Given the description of an element on the screen output the (x, y) to click on. 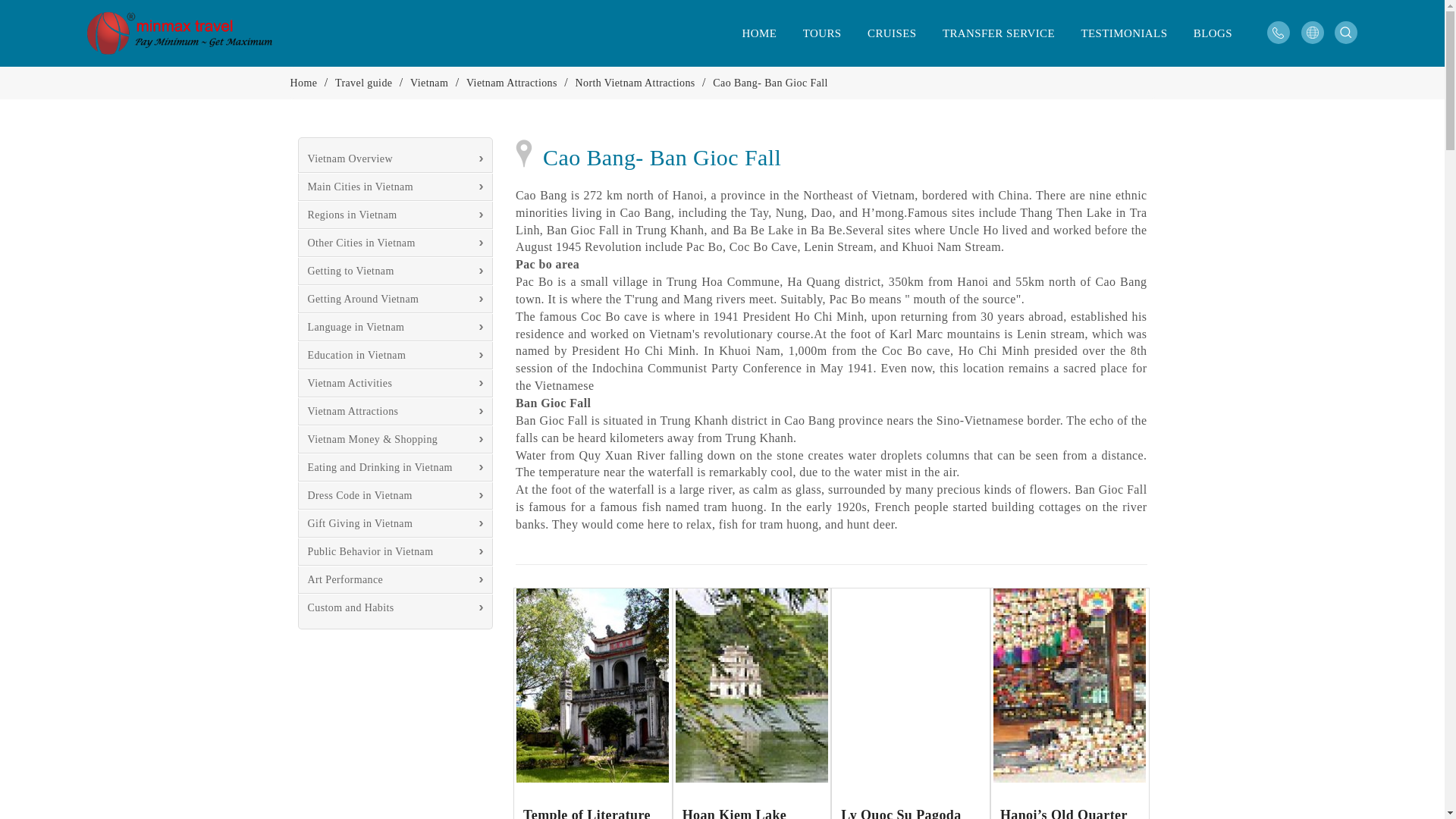
HOME (759, 33)
Vietnam Attractions (511, 82)
TOURS (822, 33)
Vietnam (429, 82)
Home (759, 33)
TESTIMONIALS (1122, 33)
BLOGS (1212, 33)
Minmax Travel (193, 33)
Travel guide (362, 82)
TRANSFER SERVICE (998, 33)
Tours (822, 33)
Home (303, 82)
North Vietnam Attractions (634, 82)
CRUISES (892, 33)
